Given the description of an element on the screen output the (x, y) to click on. 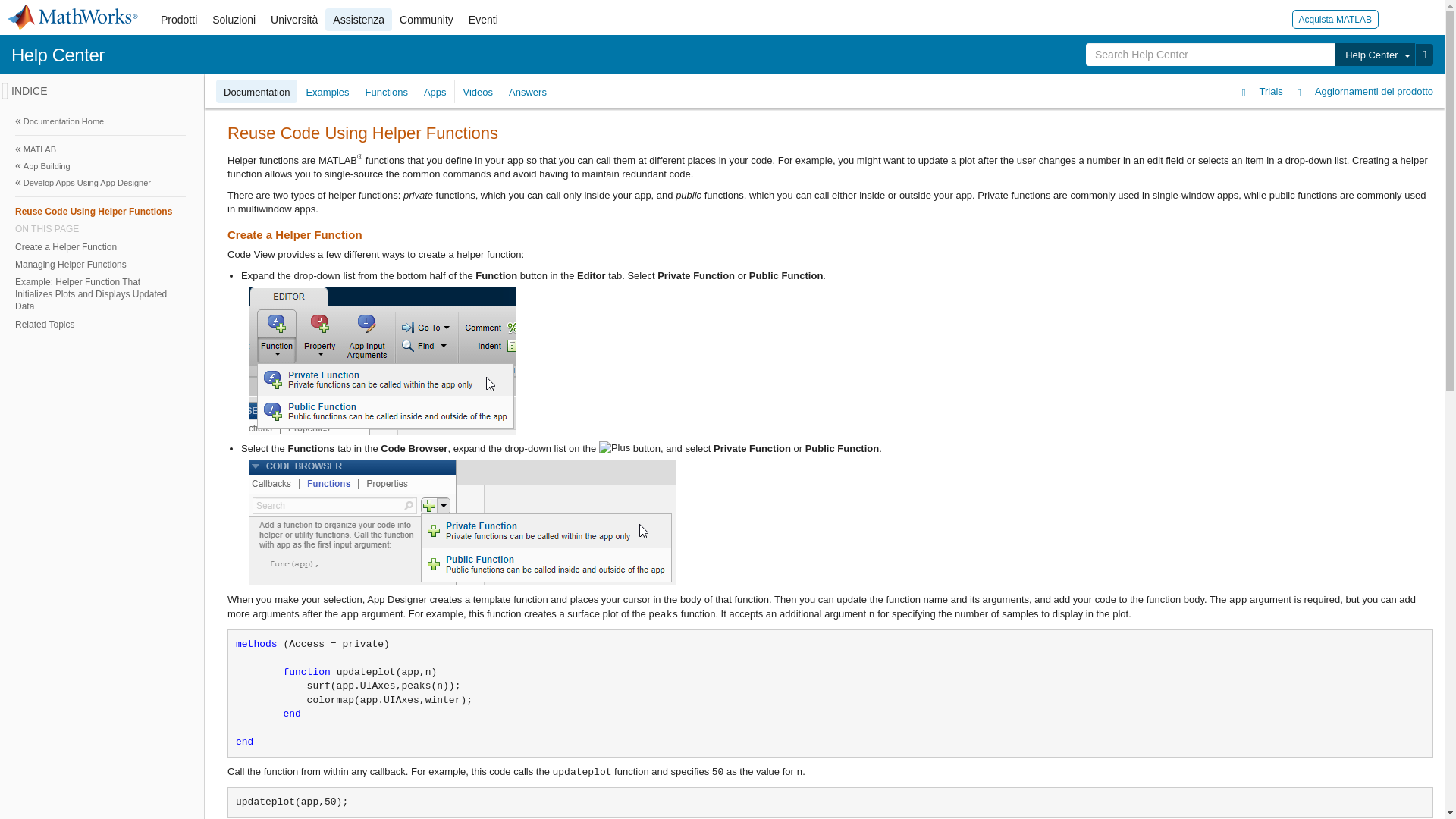
Develop Apps Using App Designer (100, 182)
Help Center (1374, 54)
Community (426, 19)
Help Center (57, 54)
Reuse Code Using Helper Functions (100, 211)
Acquista MATLAB (1335, 18)
Accedere al proprio MathWorks Account (1396, 18)
Soluzioni (234, 19)
Reuse Code Using Helper Functions (98, 211)
Managing Helper Functions (98, 263)
Create a Helper Function (98, 246)
Prodotti (178, 19)
MATLAB (100, 149)
App Building (100, 166)
